Given the description of an element on the screen output the (x, y) to click on. 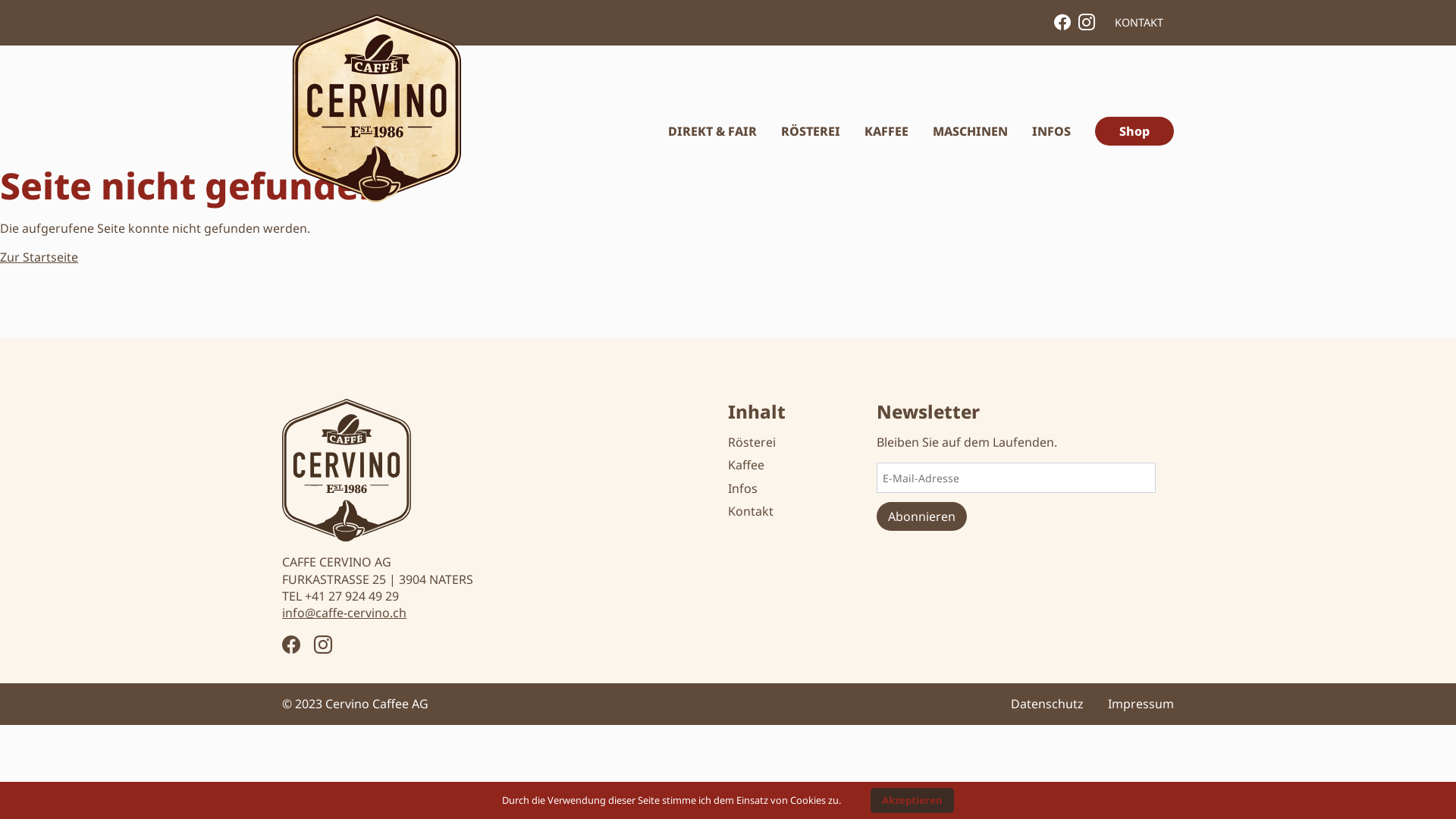
KAFFEE Element type: text (886, 130)
Abonnieren Element type: text (921, 516)
info@caffe-cervino.ch Element type: text (344, 612)
KONTAKT Element type: text (1138, 22)
Shop Element type: text (1134, 130)
MASCHINEN Element type: text (969, 130)
Kaffee Element type: text (746, 464)
Infos Element type: text (742, 488)
INFOS Element type: text (1051, 130)
Akzeptieren Element type: text (911, 799)
DIREKT & FAIR Element type: text (712, 130)
Kontakt Element type: text (750, 510)
Zur Startseite Element type: text (39, 256)
Datenschutz Element type: text (1046, 703)
Impressum Element type: text (1140, 703)
